Given the description of an element on the screen output the (x, y) to click on. 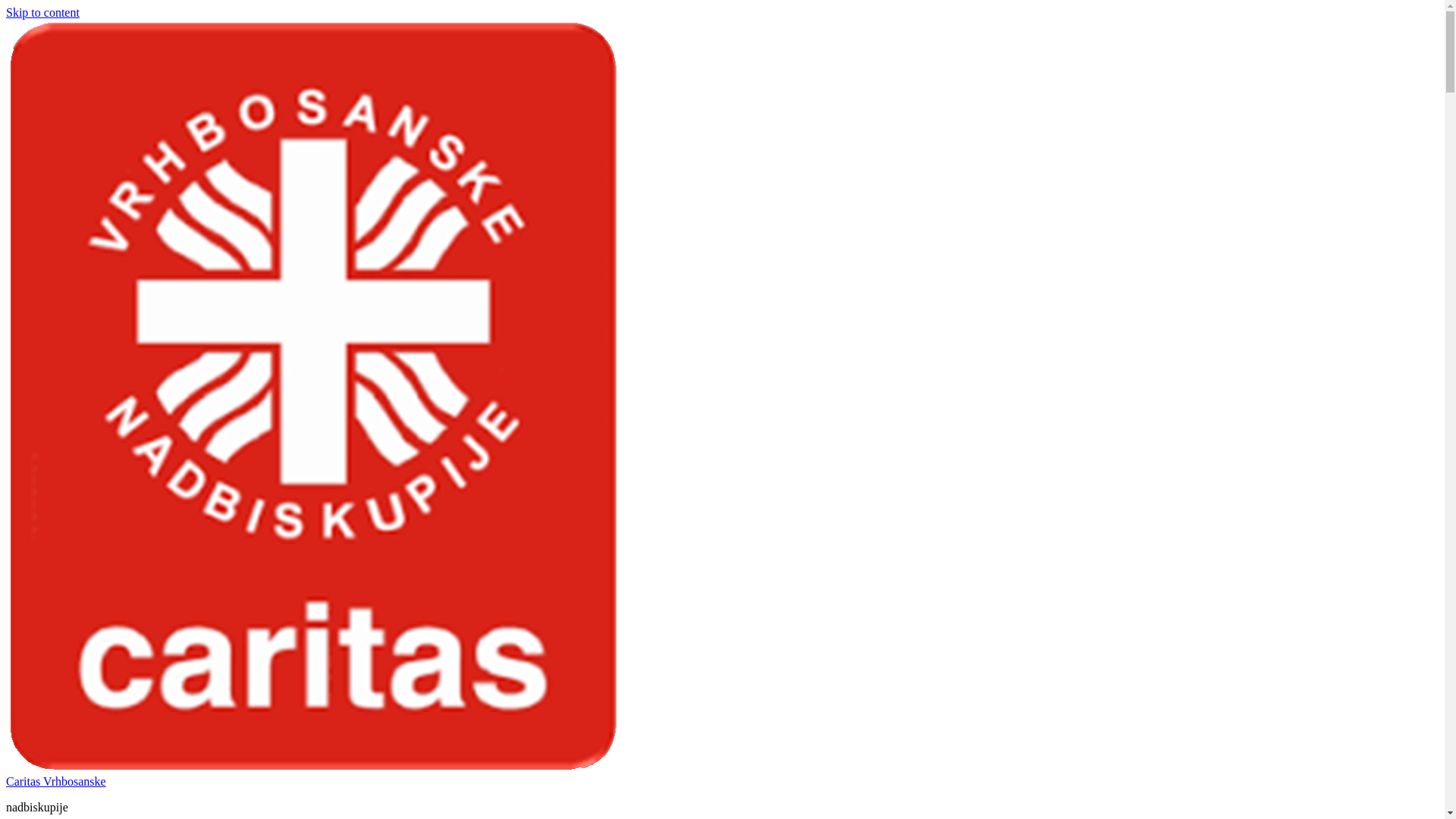
Caritas Vrhbosanske Element type: text (56, 781)
Skip to content Element type: text (42, 12)
